Given the description of an element on the screen output the (x, y) to click on. 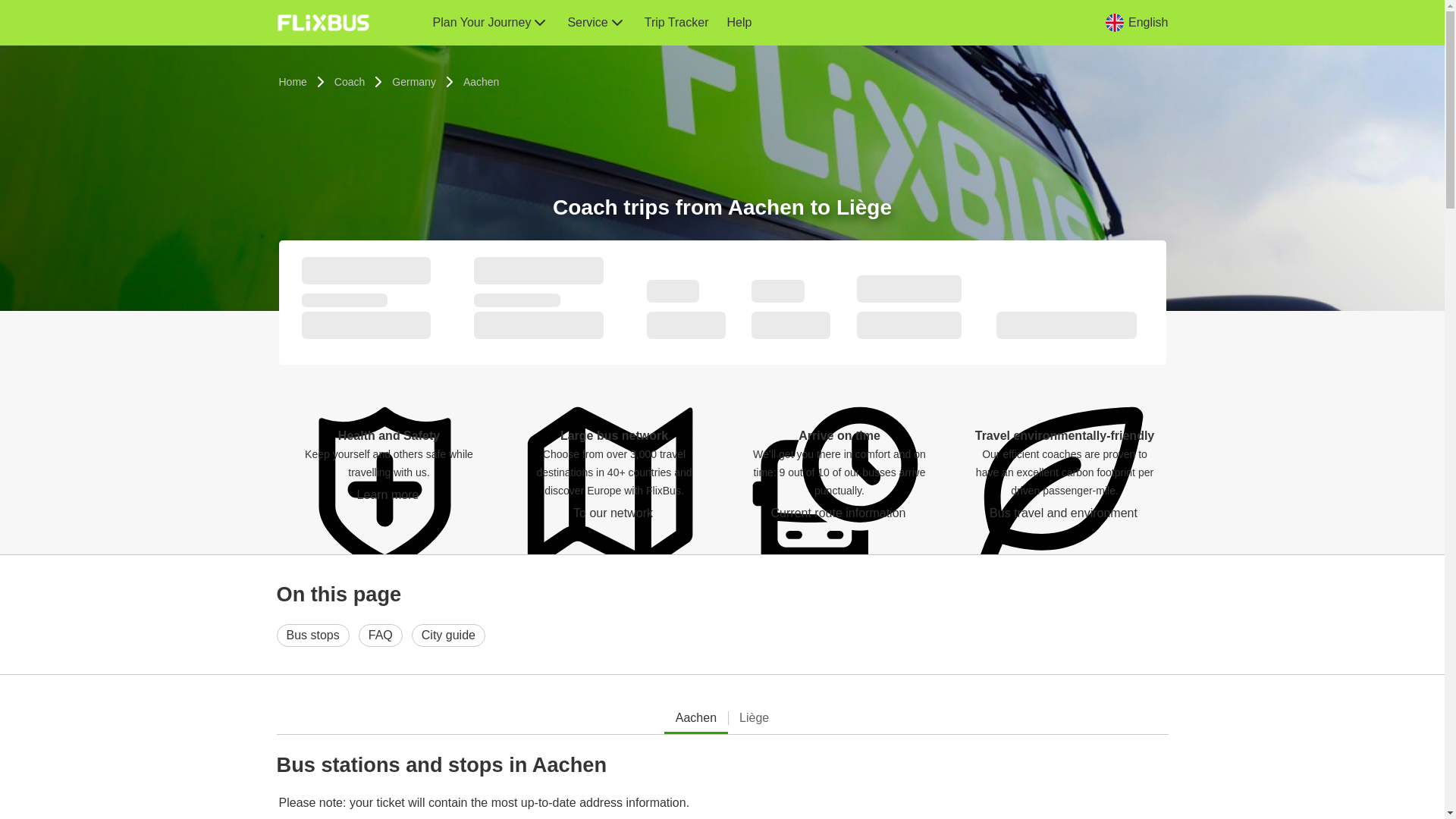
Germany (414, 81)
Help (738, 22)
City guide (448, 635)
Home (292, 81)
Trip Tracker (675, 22)
Bus travel and environment (1064, 513)
To our network (614, 513)
Service (595, 22)
Plan Your Journey (490, 22)
Coach (348, 81)
Aachen (480, 81)
Current route information (839, 513)
Germany (414, 81)
Aachen (480, 81)
English (1136, 22)
